Given the description of an element on the screen output the (x, y) to click on. 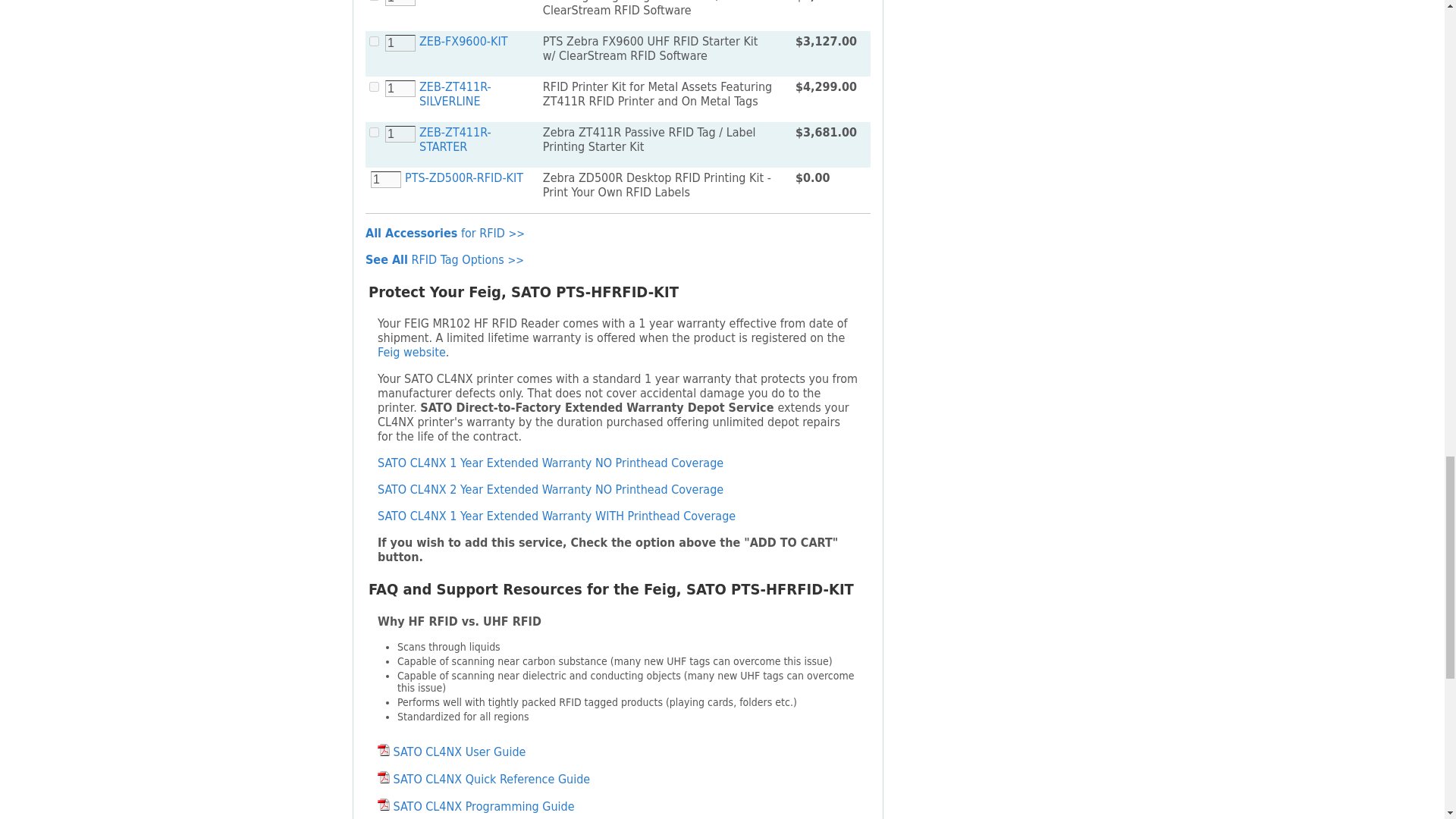
SATO CL4NX User Guide (383, 749)
1 (399, 2)
on (373, 86)
1 (399, 134)
1 (399, 88)
1 (399, 43)
on (373, 40)
on (373, 132)
1 (386, 179)
